Given the description of an element on the screen output the (x, y) to click on. 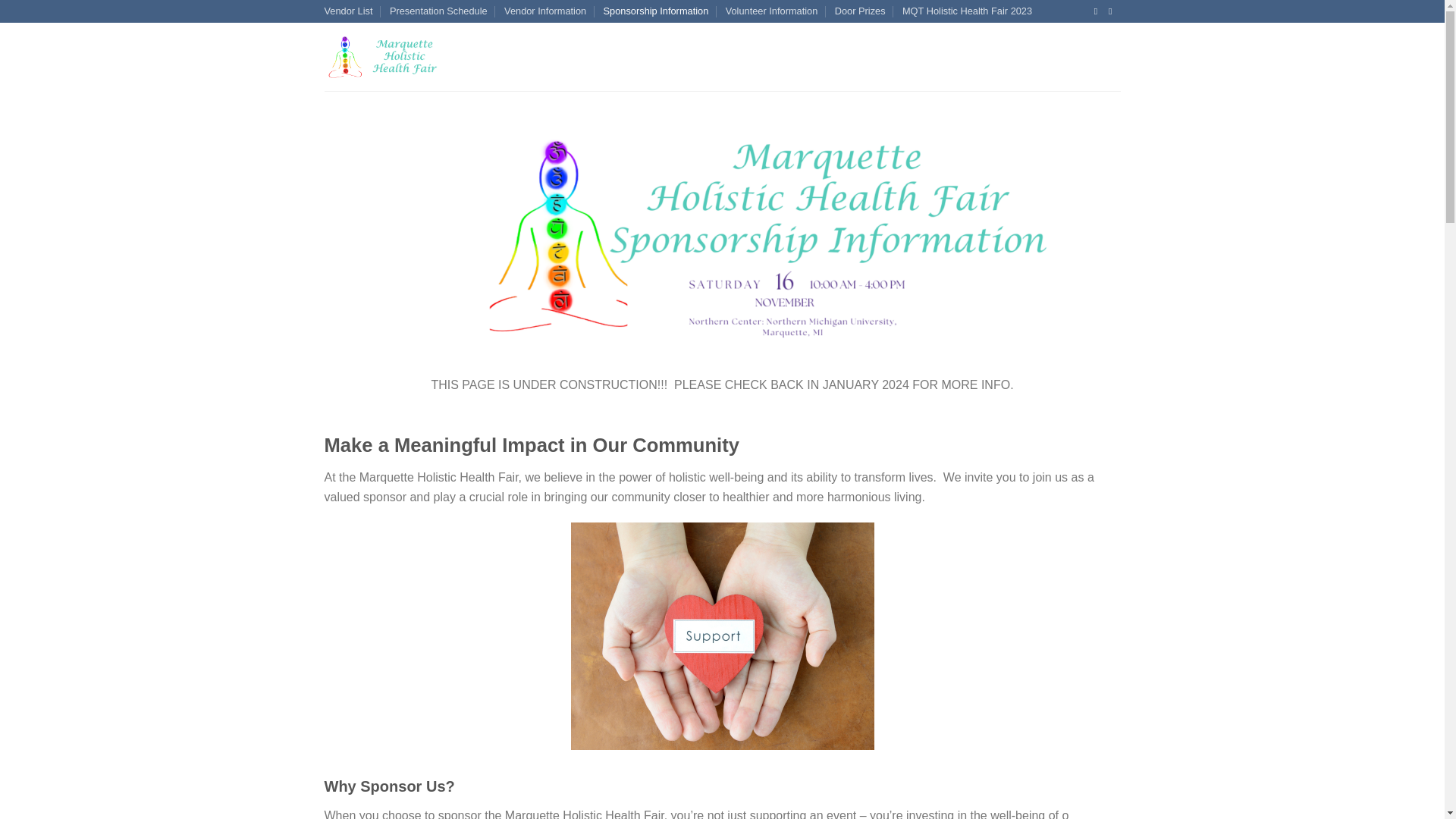
Volunteer Information (771, 11)
Sponsorship Information (656, 11)
MQT Holistic Health Fair 2023 (967, 11)
Marquette Holistic Health Fair (418, 56)
Door Prizes (859, 11)
Vendor List (348, 11)
Presentation Schedule (438, 11)
Vendor Information (544, 11)
